Given the description of an element on the screen output the (x, y) to click on. 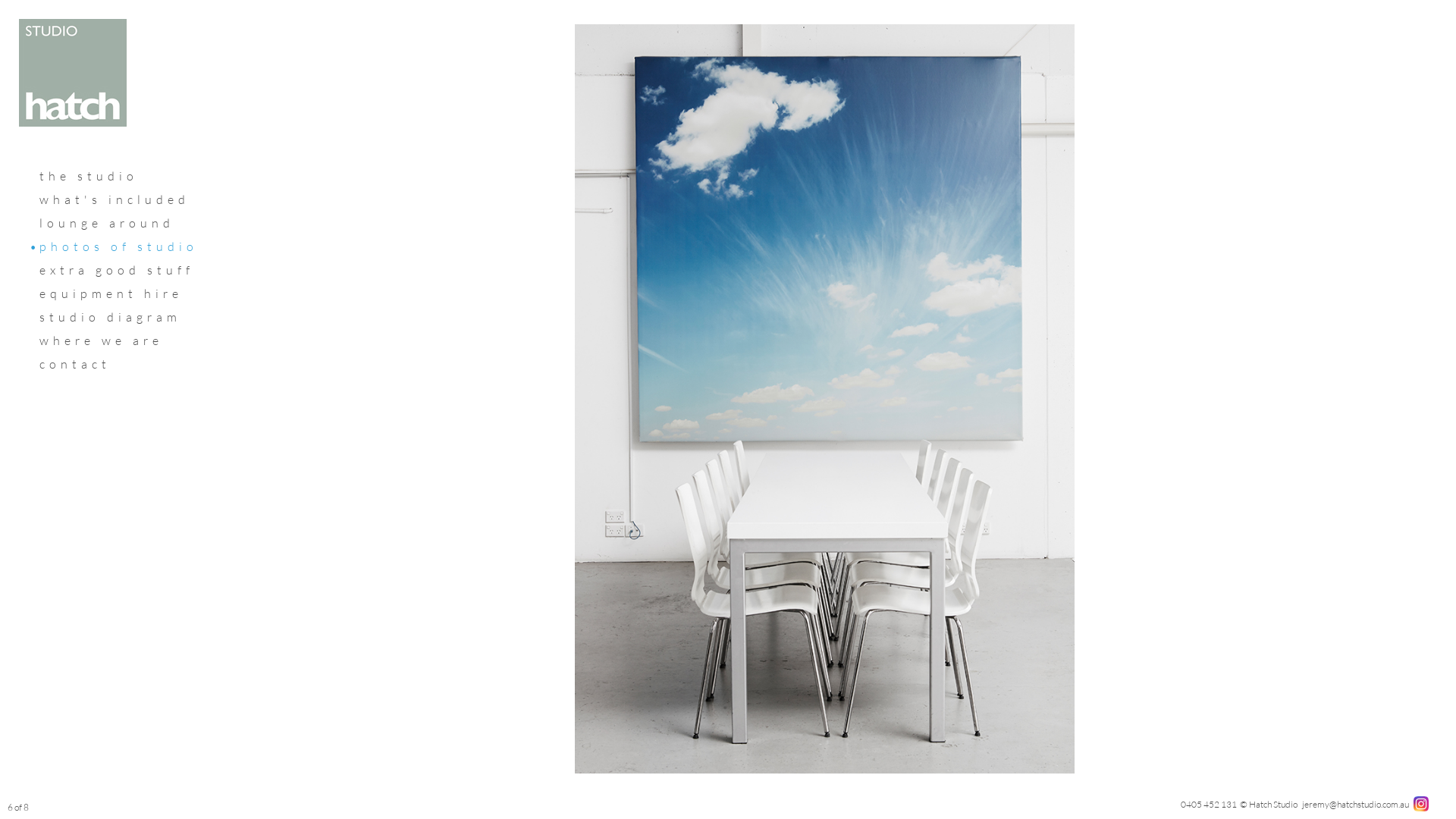
the studio Element type: text (88, 175)
extra good stuff Element type: text (116, 269)
what's included Element type: text (114, 199)
contact Element type: text (74, 363)
where we are Element type: text (101, 340)
lounge around Element type: text (106, 222)
6 of 8 Element type: text (17, 806)
studio diagram Element type: text (110, 316)
equipment hire Element type: text (110, 293)
photos of studio Element type: text (118, 246)
